Given the description of an element on the screen output the (x, y) to click on. 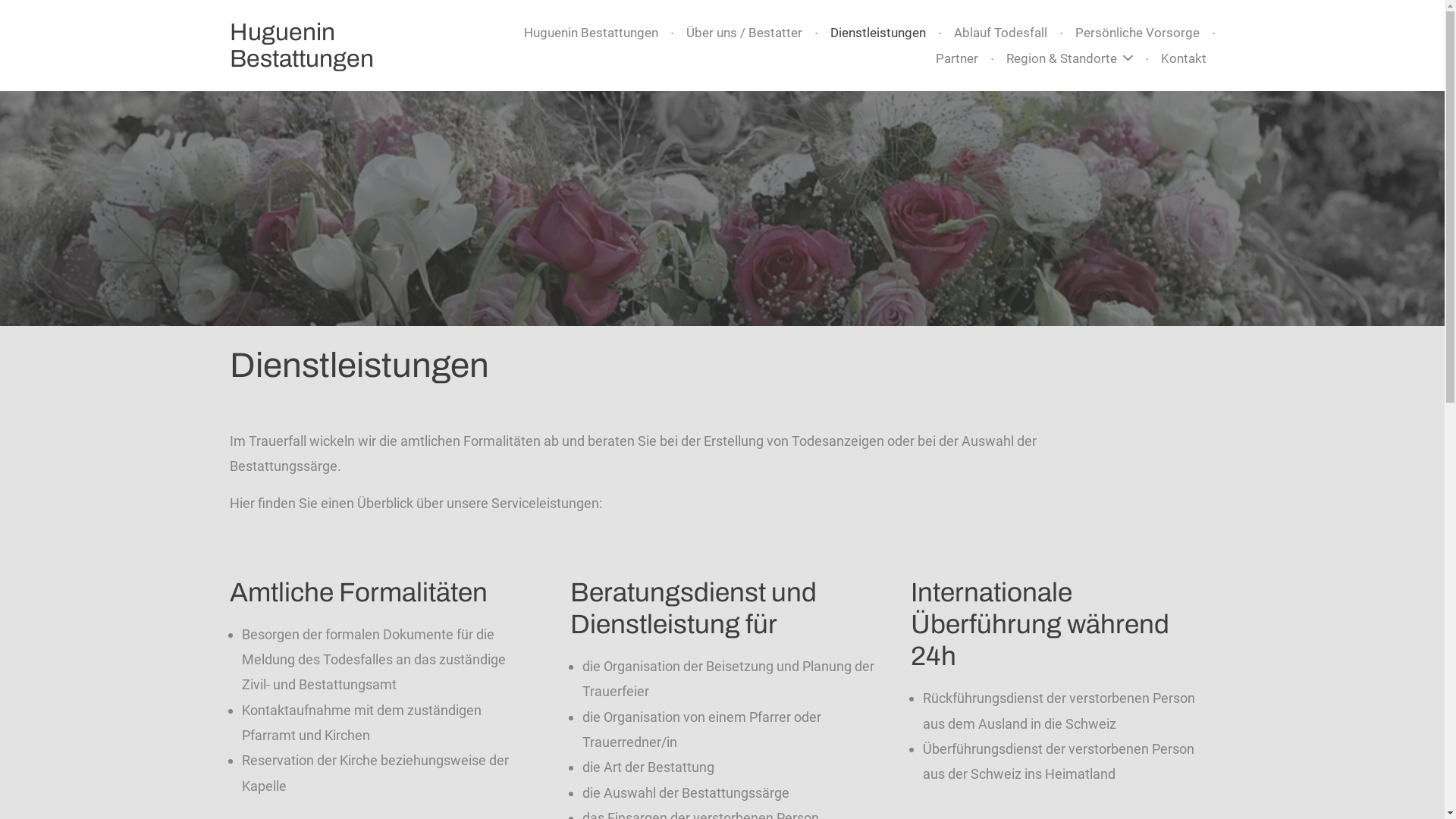
Ablauf Todesfall Element type: text (1000, 32)
Dienstleistungen Element type: text (877, 32)
Huguenin Bestattungen Element type: text (301, 45)
Huguenin Bestattungen Element type: text (590, 32)
Kontakt Element type: text (1182, 58)
Partner Element type: text (956, 58)
